Given the description of an element on the screen output the (x, y) to click on. 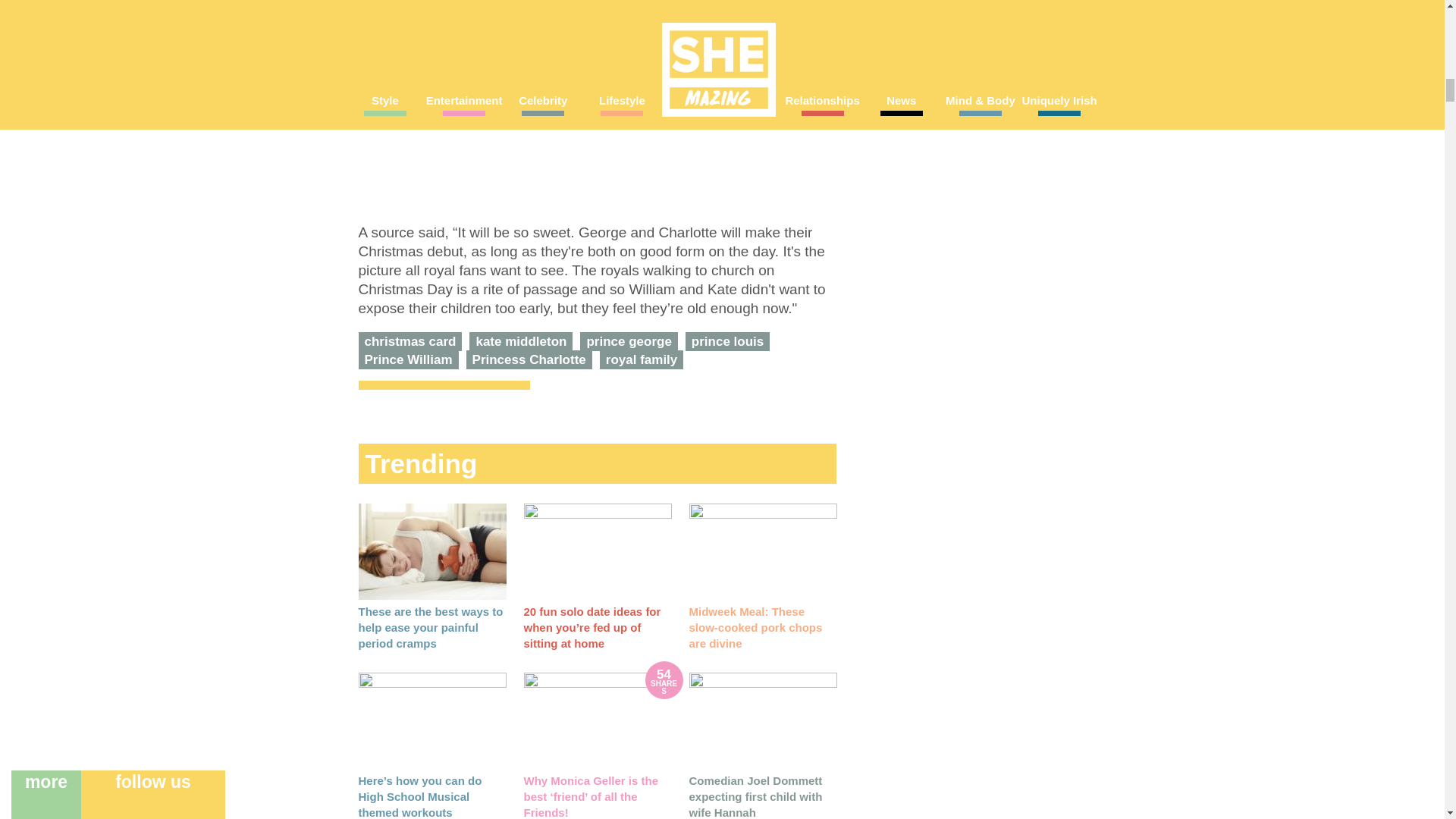
Midweek Meal: These slow-cooked pork chops are divine (761, 551)
Comedian Joel Dommett expecting first child with wife Hannah (761, 720)
Comedian Joel Dommett expecting first child with wife Hannah (755, 796)
Midweek Meal: These slow-cooked pork chops are divine (755, 627)
